Given the description of an element on the screen output the (x, y) to click on. 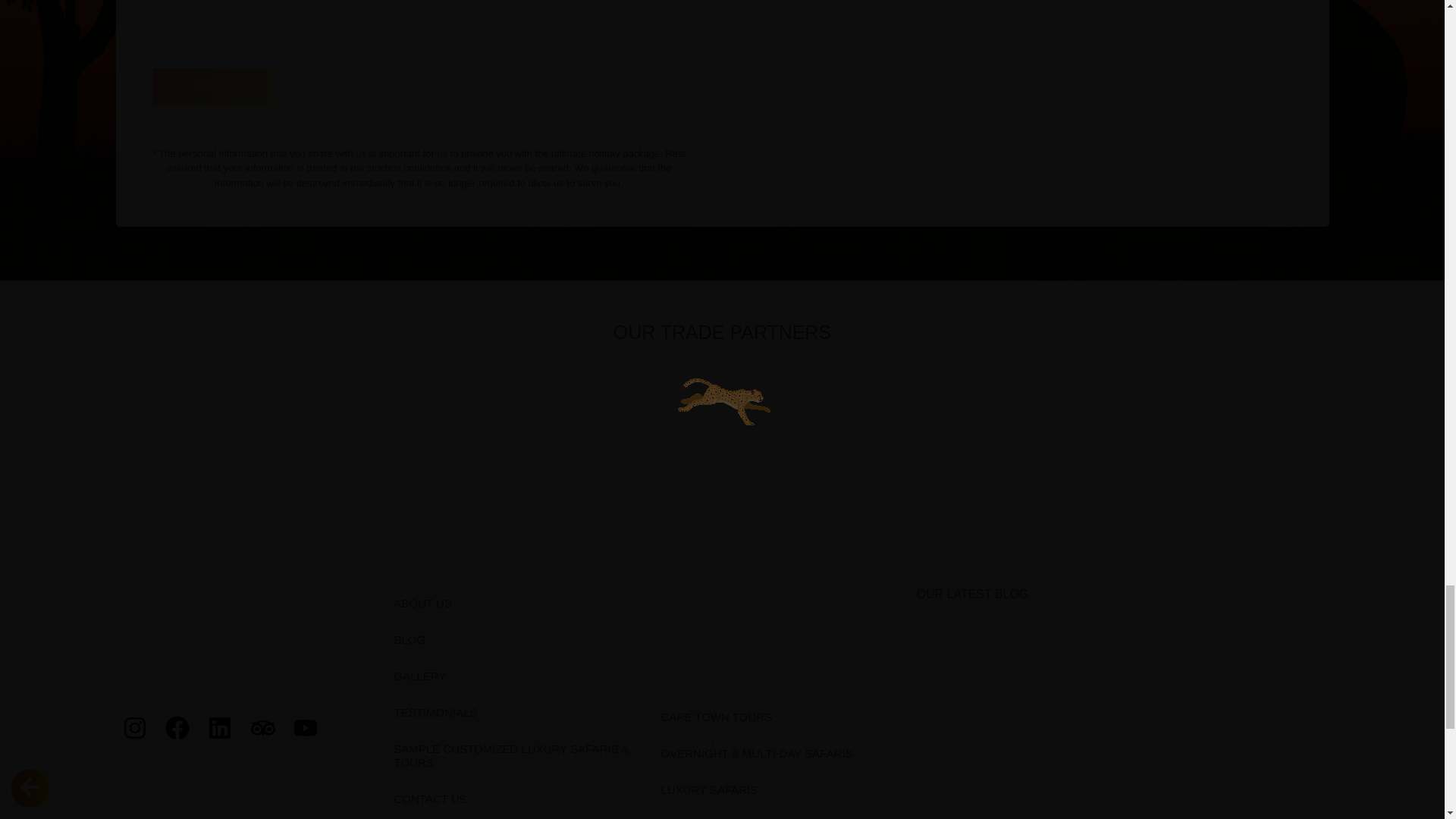
africa-explore-1 (248, 638)
